Given the description of an element on the screen output the (x, y) to click on. 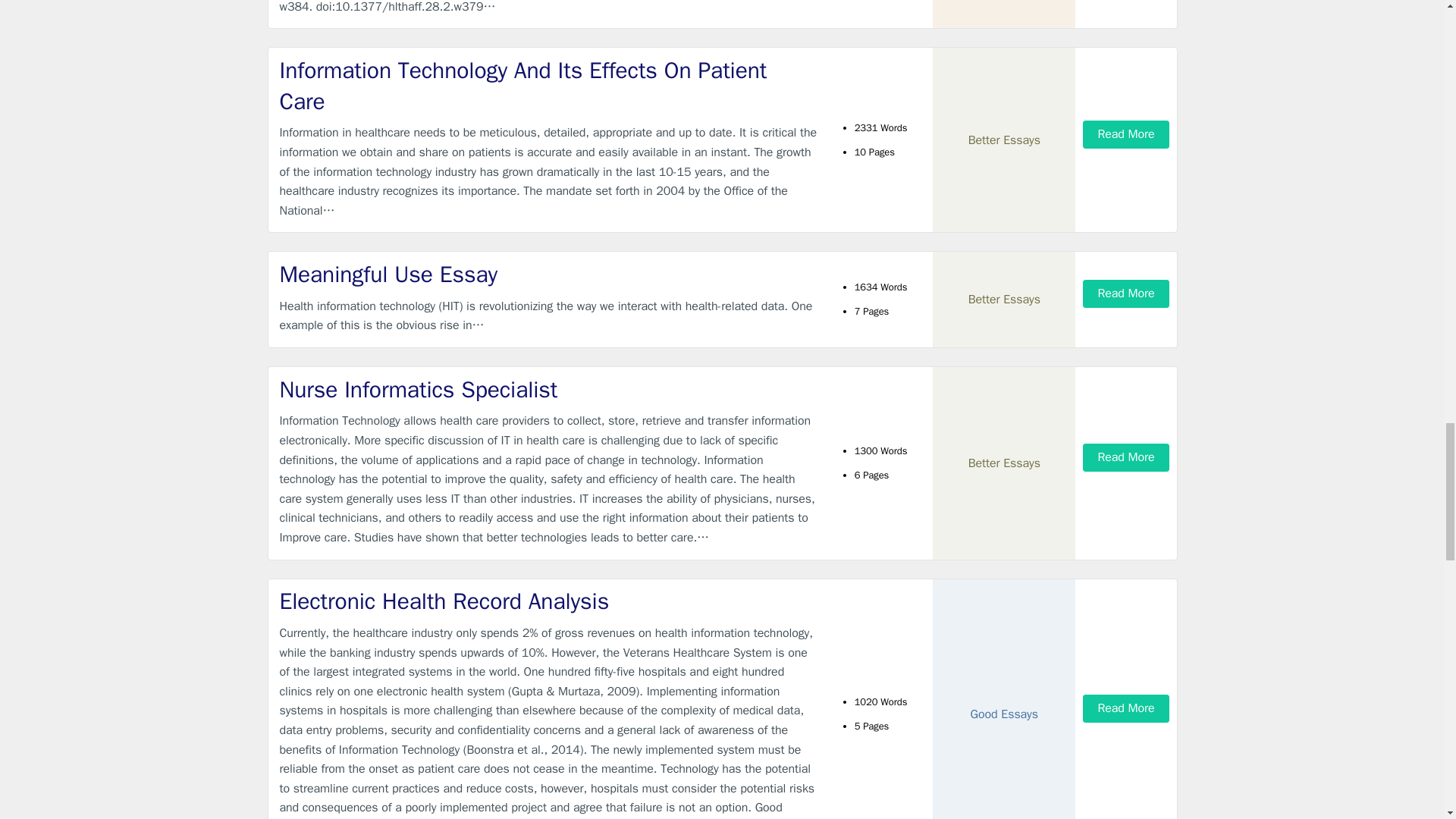
Read More (1126, 134)
Meaningful Use Essay (548, 274)
Information Technology And Its Effects On Patient Care (548, 86)
Read More (1126, 293)
